Given the description of an element on the screen output the (x, y) to click on. 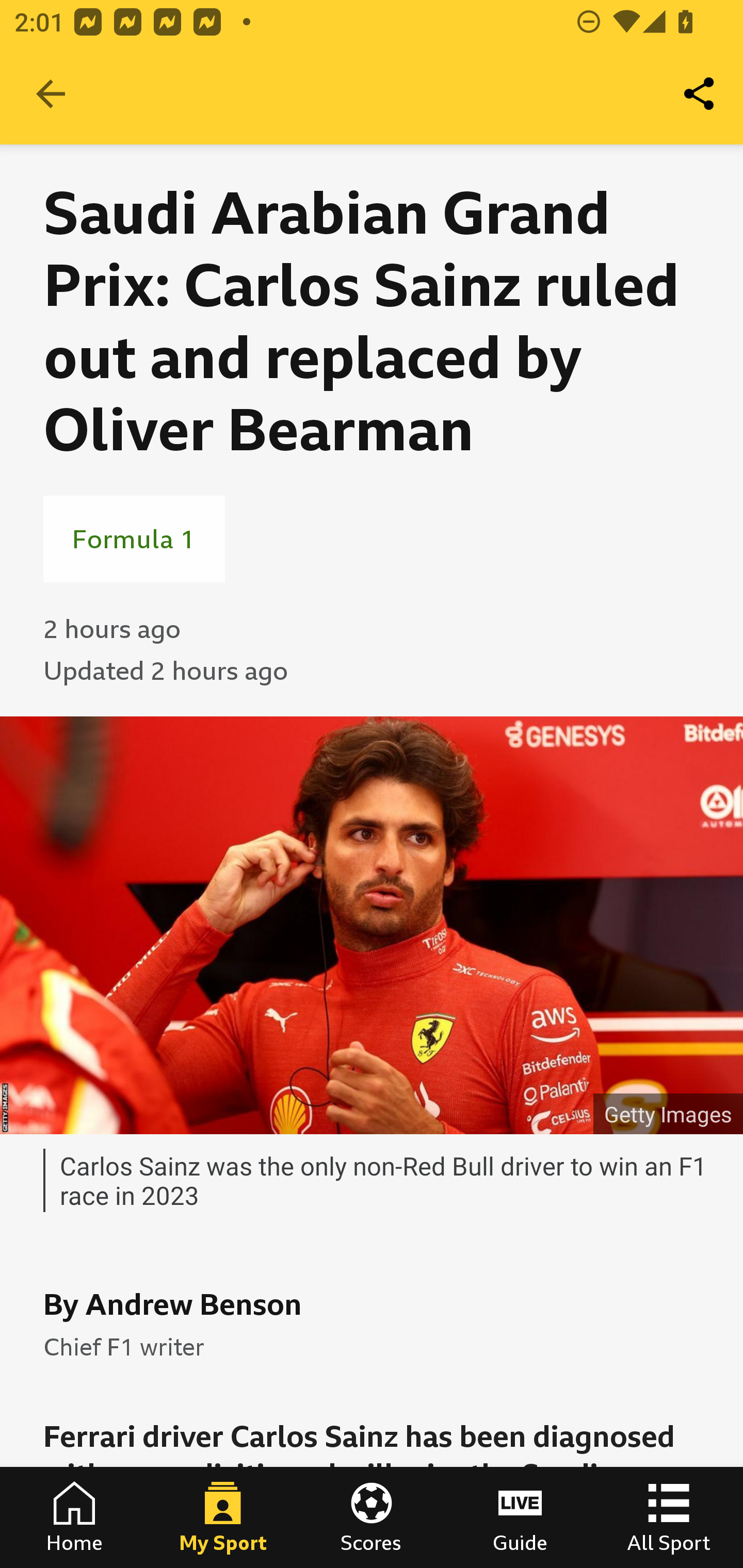
Navigate up (50, 93)
Share (699, 93)
Formula 1 (134, 538)
Home (74, 1517)
Scores (371, 1517)
Guide (519, 1517)
All Sport (668, 1517)
